Given the description of an element on the screen output the (x, y) to click on. 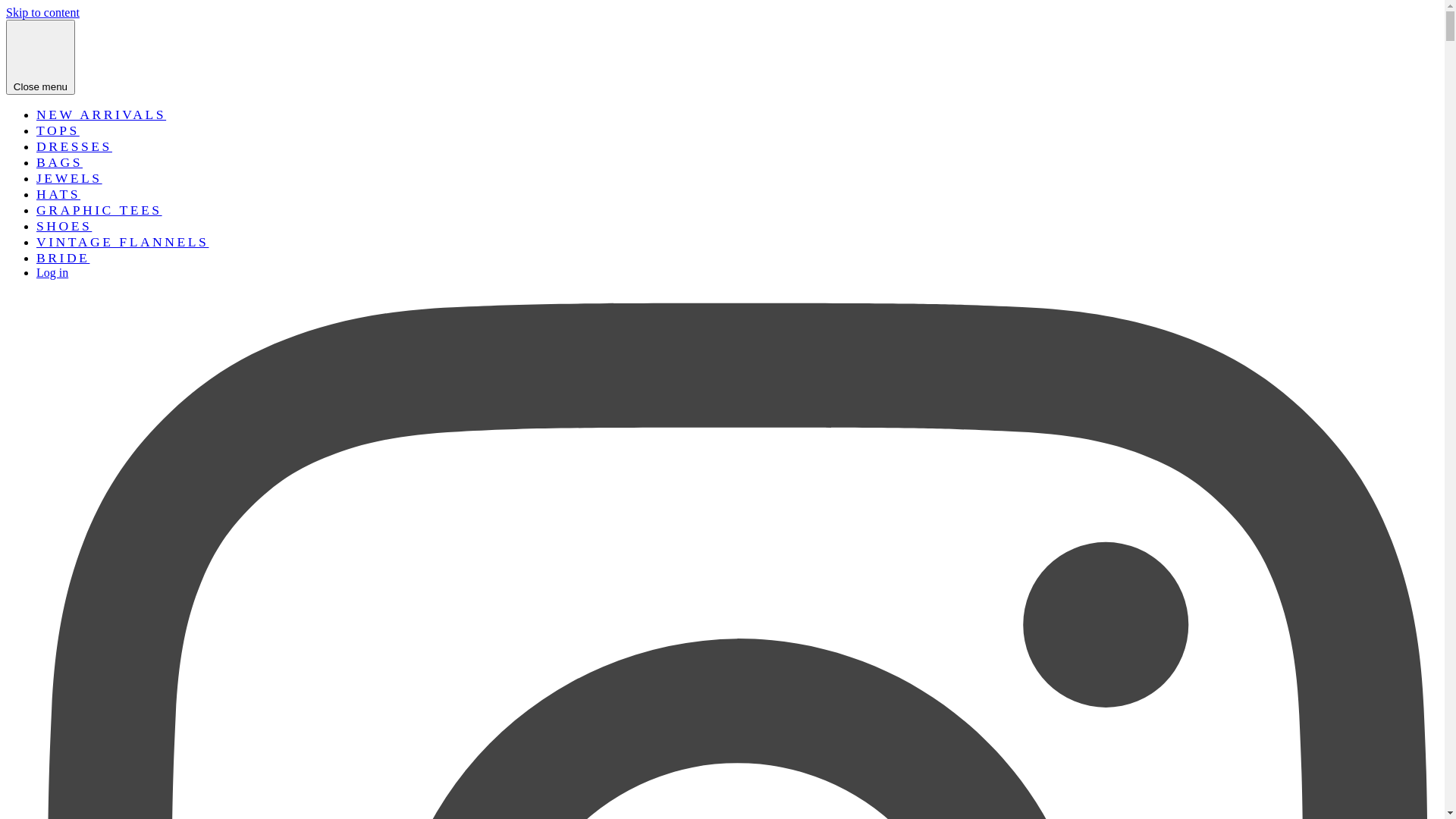
TOPS Element type: text (57, 130)
HATS Element type: text (58, 193)
Skip to content Element type: text (42, 12)
SHOES Element type: text (63, 225)
VINTAGE FLANNELS Element type: text (122, 241)
DRESSES Element type: text (74, 145)
Close menu Element type: text (40, 56)
Log in Element type: text (52, 272)
BRIDE Element type: text (62, 257)
NEW ARRIVALS Element type: text (101, 114)
JEWELS Element type: text (69, 177)
GRAPHIC TEES Element type: text (99, 209)
BAGS Element type: text (59, 161)
